Given the description of an element on the screen output the (x, y) to click on. 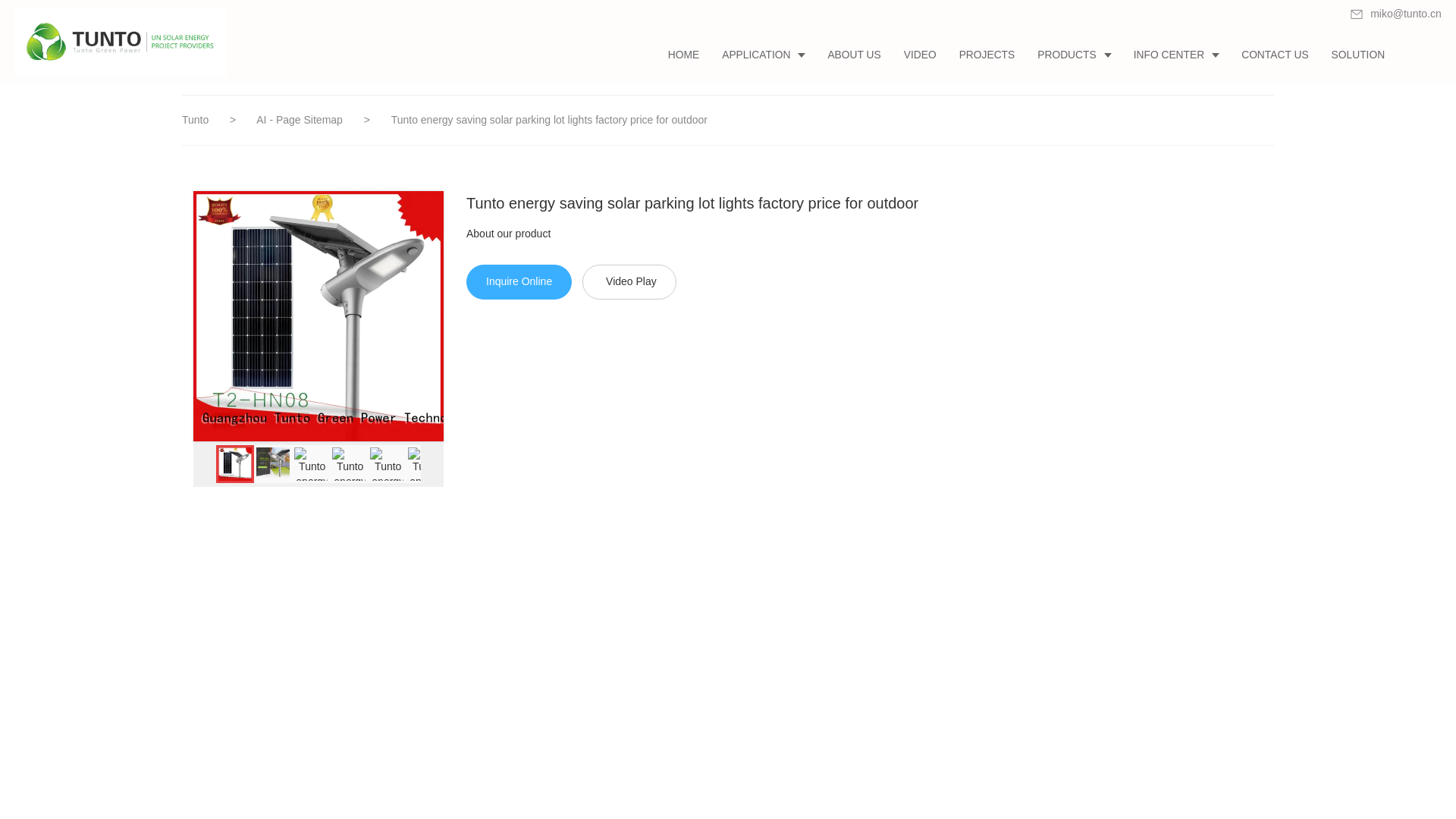
HOME (683, 55)
PROJECTS (986, 55)
AI - Page Sitemap (301, 119)
INFO CENTER (1176, 55)
ABOUT US (853, 55)
Tunto (195, 119)
CONTACT US (1274, 55)
VIDEO (919, 55)
APPLICATION (762, 55)
PRODUCTS (1073, 55)
Video Play (629, 281)
Inquire Online (518, 281)
SOLUTION (1358, 55)
